Given the description of an element on the screen output the (x, y) to click on. 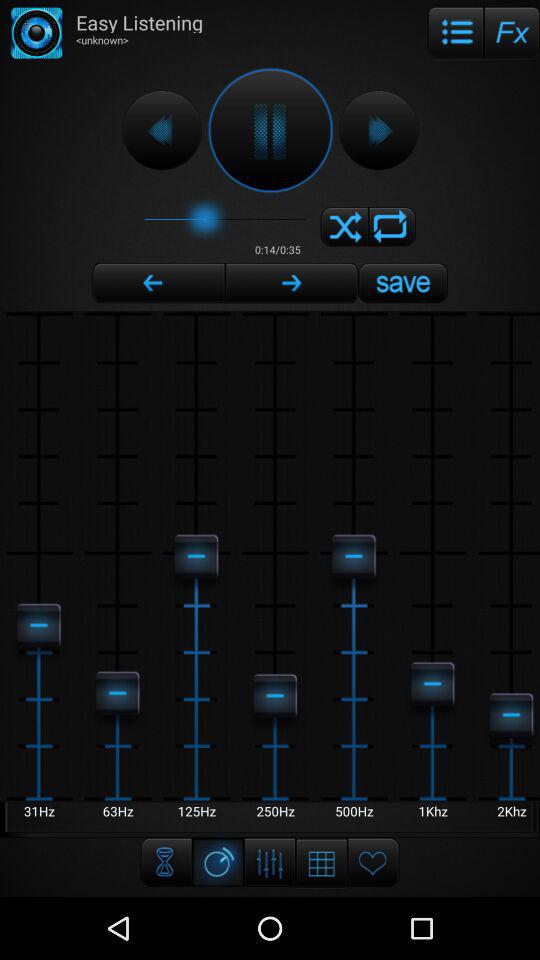
turn off the item next to easy listening icon (456, 32)
